Given the description of an element on the screen output the (x, y) to click on. 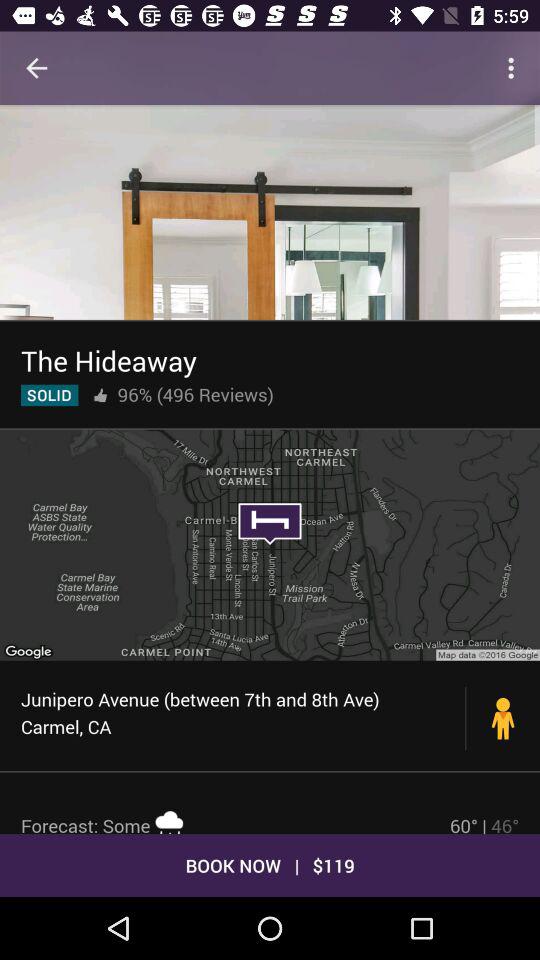
turn off item at the top left corner (36, 68)
